Given the description of an element on the screen output the (x, y) to click on. 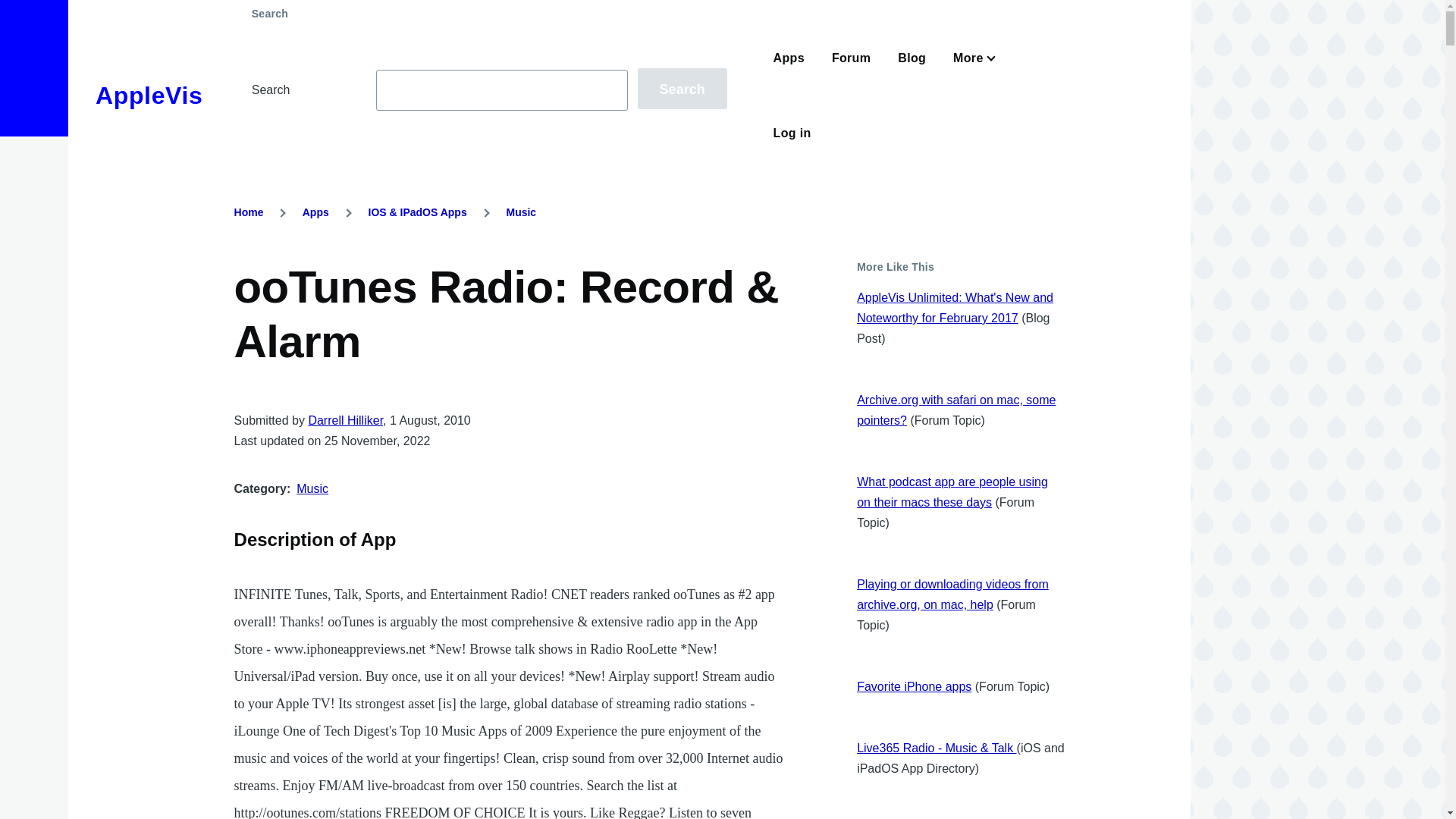
Apps (315, 212)
Home (149, 94)
Music (520, 212)
Music (313, 488)
Skip to main content (595, 6)
AppleVis (149, 94)
Search (681, 87)
Search (681, 87)
Darrell Hilliker (344, 420)
Home (248, 212)
